Given the description of an element on the screen output the (x, y) to click on. 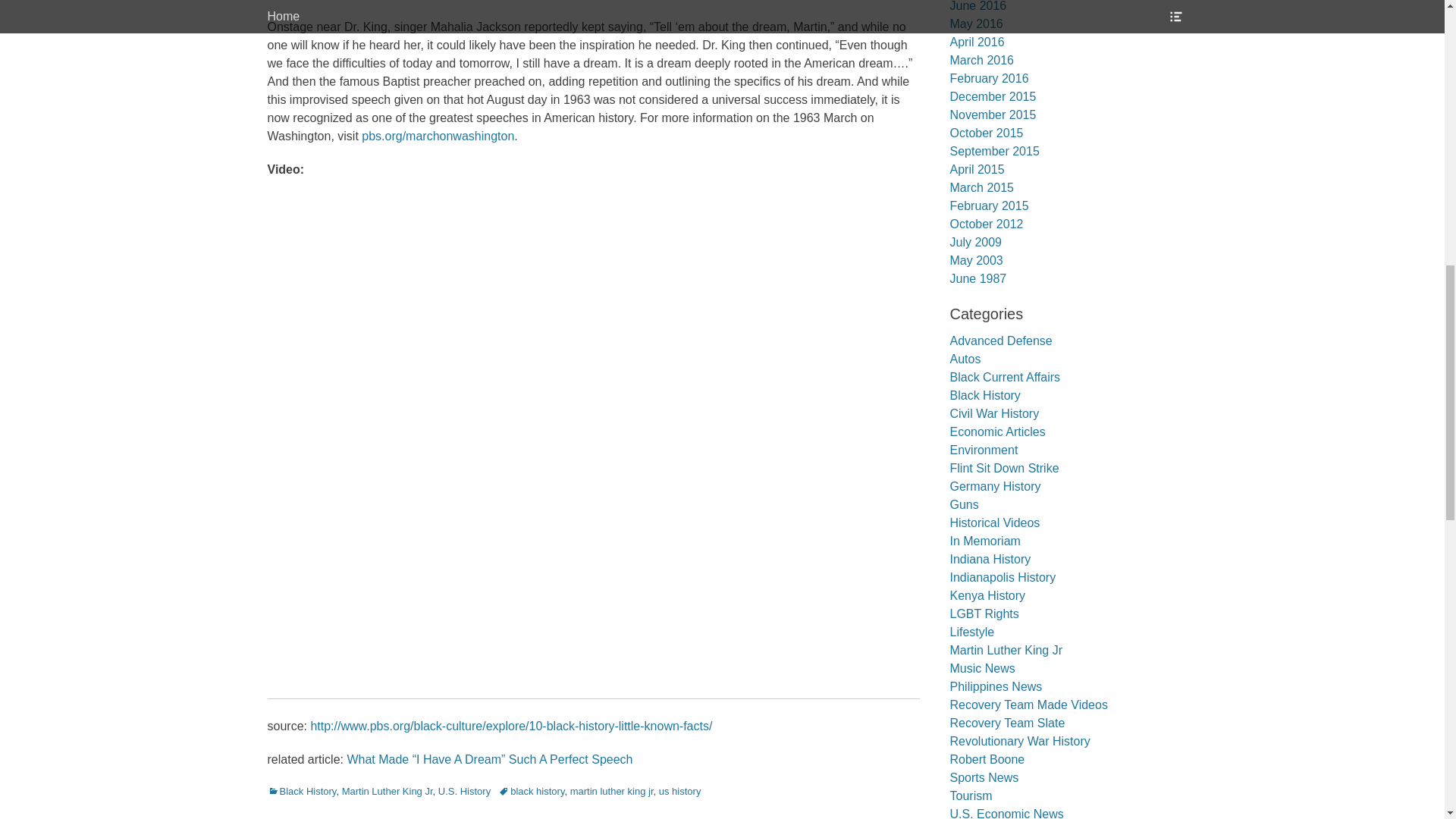
us history (680, 790)
November 2015 (992, 114)
May 2016 (976, 23)
June 2016 (977, 6)
martin luther king jr (611, 790)
April 2016 (976, 42)
February 2016 (988, 78)
December 2015 (992, 96)
black history (530, 790)
Martin Luther King Jr (387, 790)
